Given the description of an element on the screen output the (x, y) to click on. 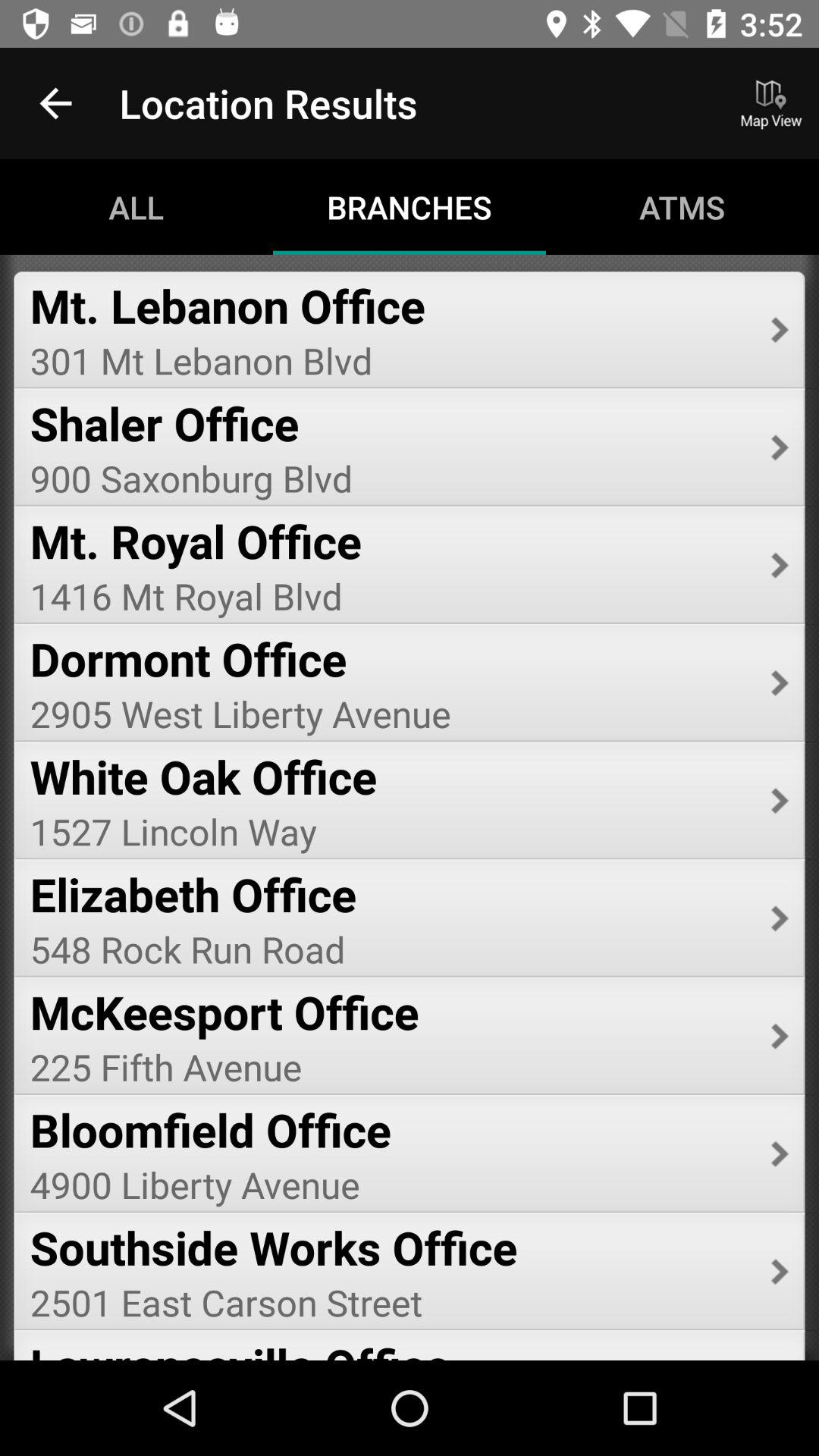
launch white oak office item (390, 776)
